Given the description of an element on the screen output the (x, y) to click on. 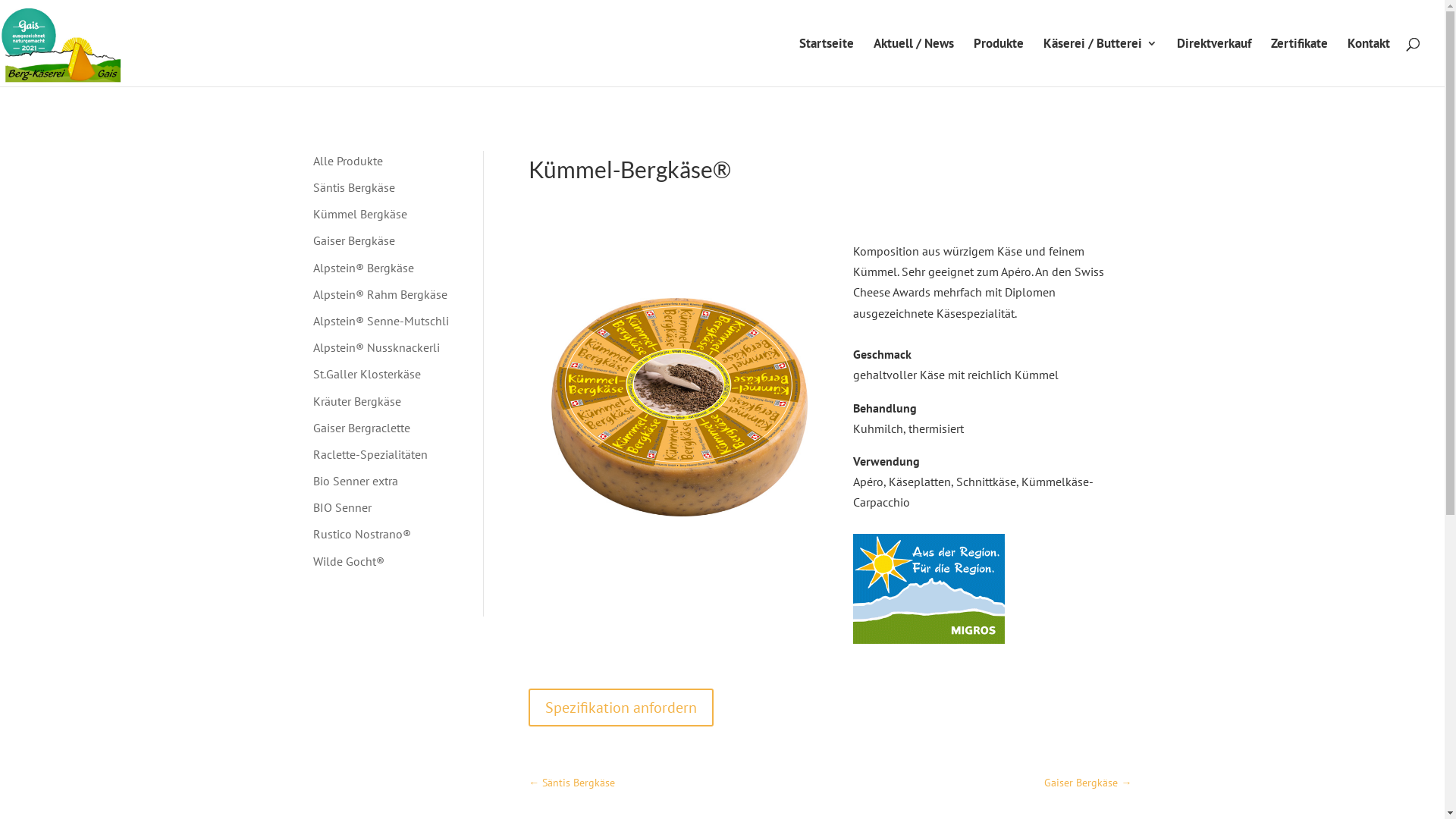
Produkte Element type: text (998, 61)
BIO Senner Element type: text (341, 506)
Kontakt Element type: text (1368, 61)
Zertifikate Element type: text (1298, 61)
Direktverkauf Element type: text (1213, 61)
Bio Senner extra Element type: text (354, 480)
Alle Produkte Element type: text (347, 160)
Spezifikation anfordern Element type: text (620, 707)
Startseite Element type: text (826, 61)
Aktuell / News Element type: text (913, 61)
Kuemmel-Bergkaese neu Element type: hover (679, 511)
Gaiser Bergraclette Element type: text (360, 427)
